Given the description of an element on the screen output the (x, y) to click on. 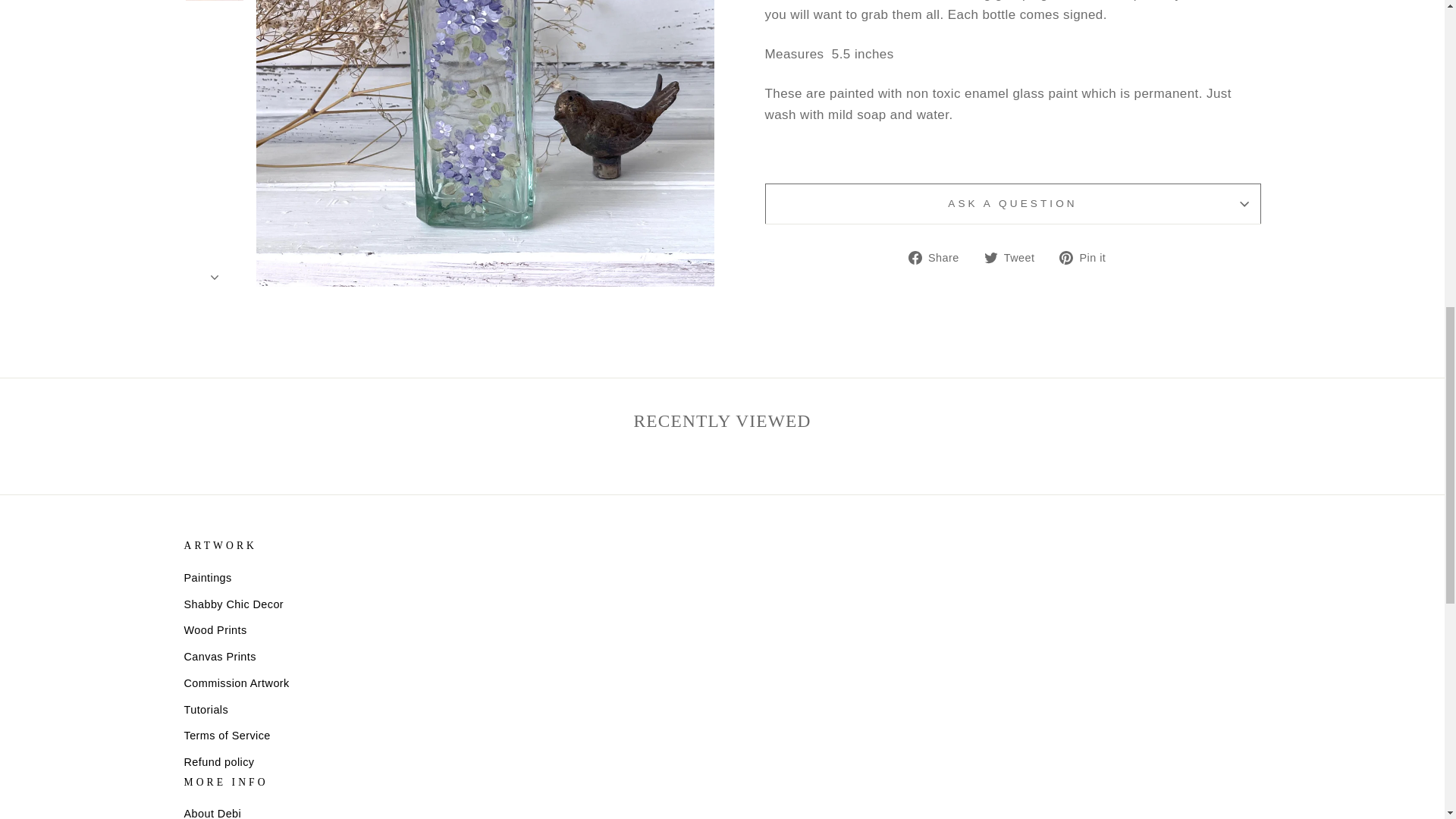
Tweet on Twitter (1015, 257)
Pin on Pinterest (1087, 257)
icon-chevron (214, 60)
twitter (990, 257)
Share on Facebook (939, 257)
